Given the description of an element on the screen output the (x, y) to click on. 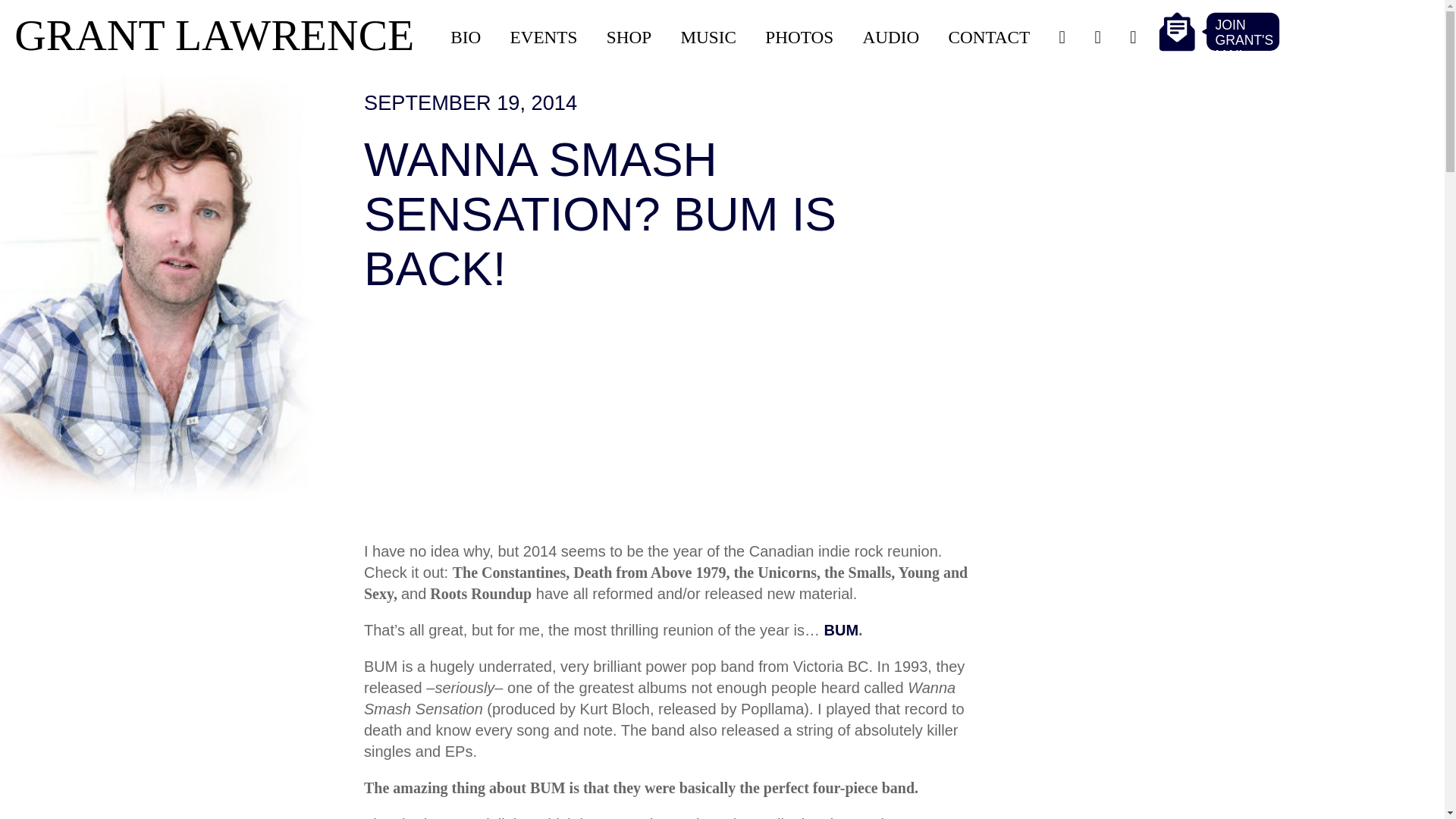
EVENTS (544, 38)
CONTACT (989, 38)
GRANT LAWRENCE (218, 36)
BIO (464, 38)
MUSIC (707, 38)
AUDIO (889, 38)
SHOP (628, 38)
BUM (841, 631)
PHOTOS (798, 38)
WANNA SMASH SENSATION? BUM IS BACK! (599, 215)
